Given the description of an element on the screen output the (x, y) to click on. 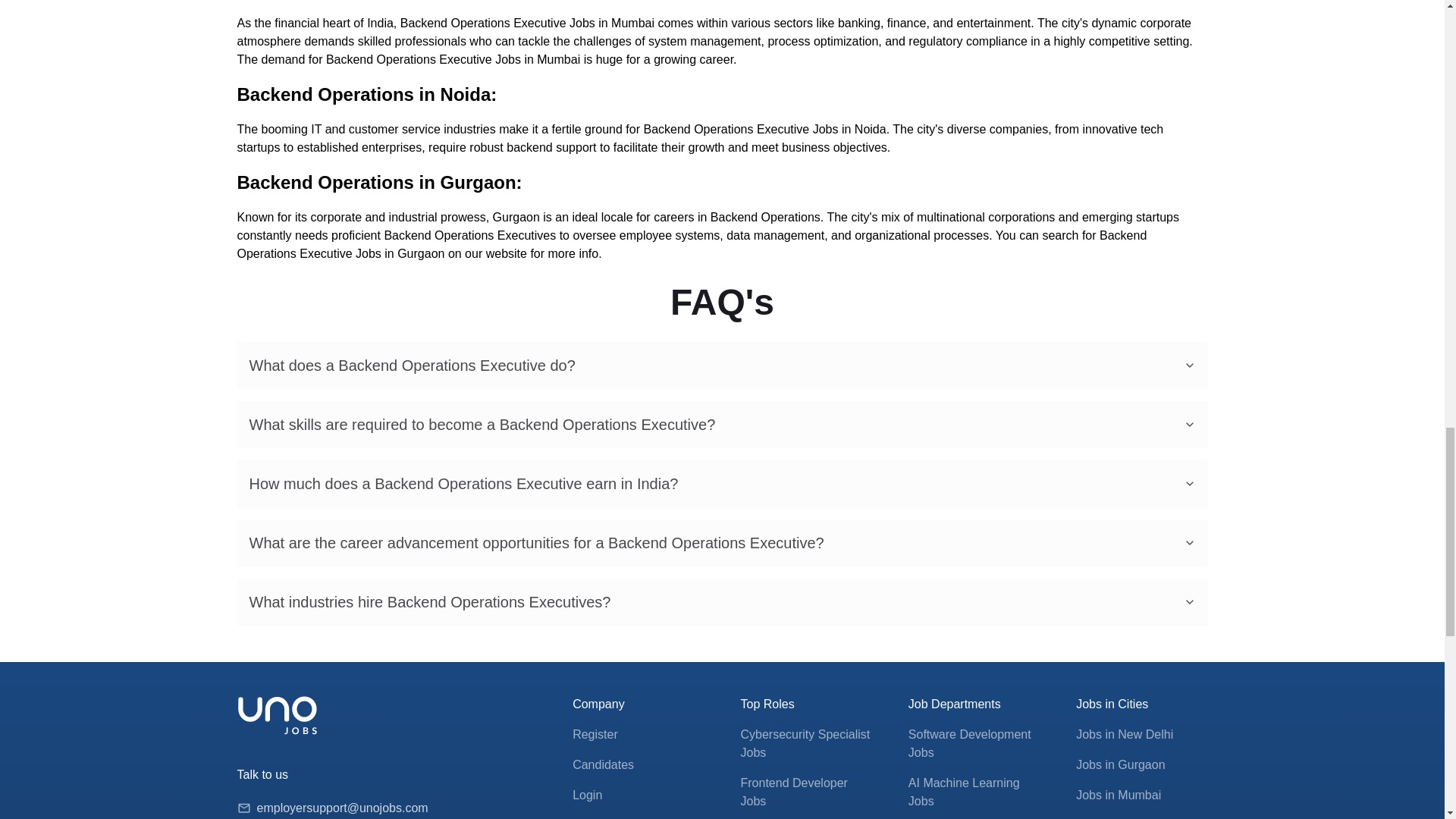
Login (587, 794)
How much does a Backend Operations Executive earn in India? (721, 483)
Candidates (602, 764)
What does a Backend Operations Executive do? (721, 365)
What industries hire Backend Operations Executives? (721, 601)
Register (594, 734)
